Given the description of an element on the screen output the (x, y) to click on. 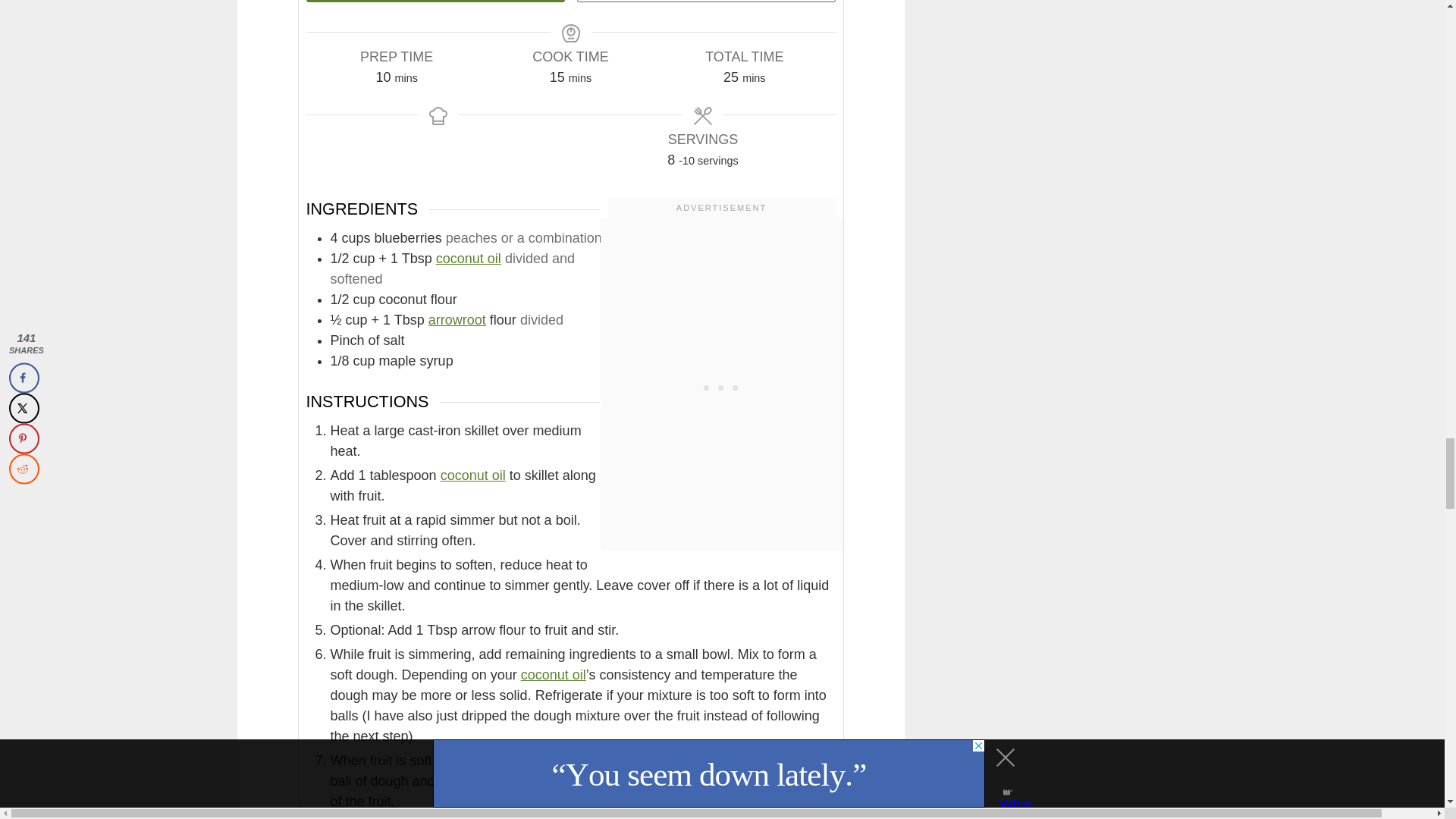
coconut oil (467, 258)
coconut oil (473, 475)
coconut oil (553, 674)
arrowroot (457, 319)
